Given the description of an element on the screen output the (x, y) to click on. 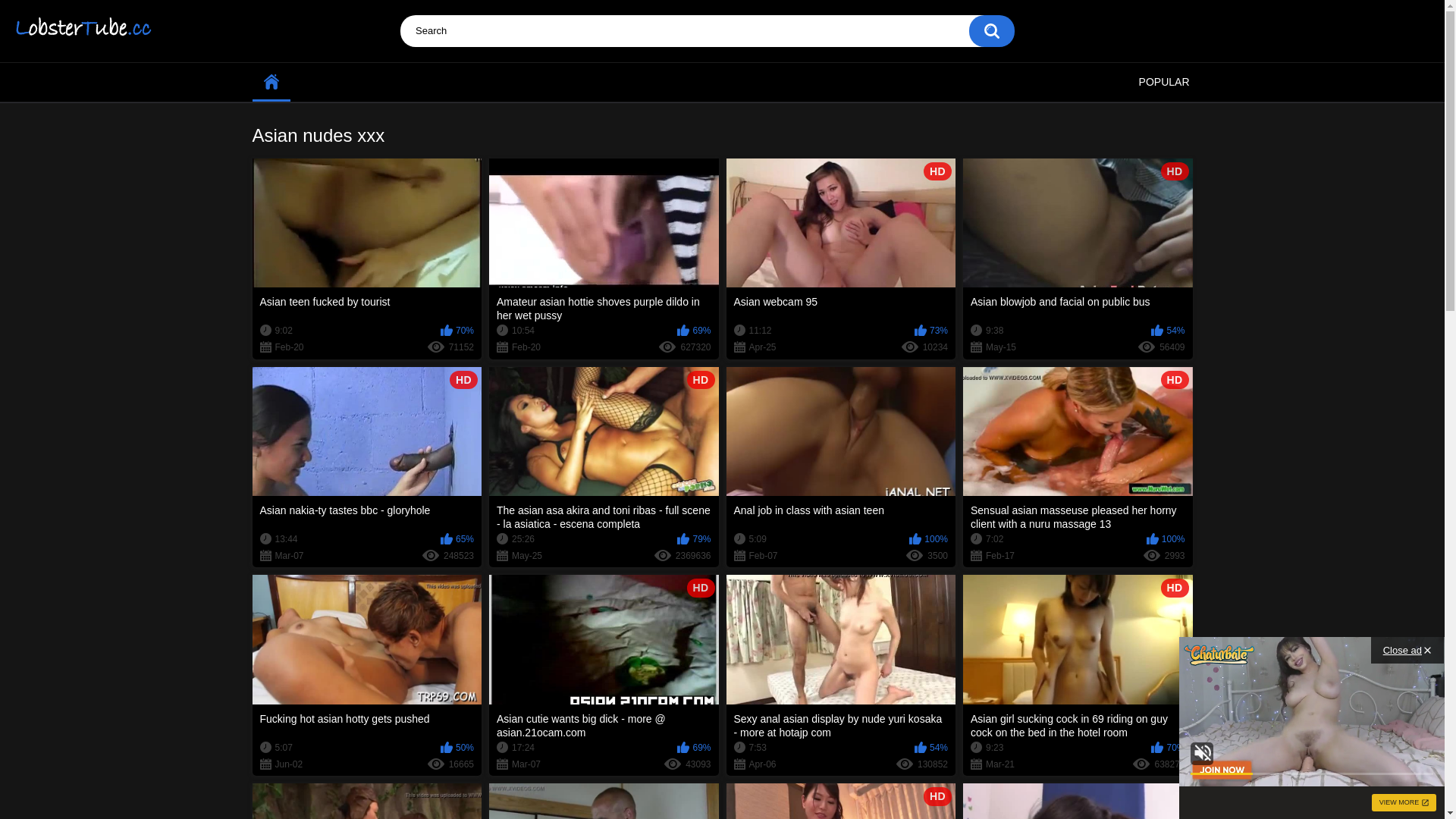
Fucking hot asian hotty gets pushed
5:07
50%
Jun-02
16665 Element type: text (366, 674)
Anal job in class with asian teen
5:09
100%
Feb-07
3500 Element type: text (841, 467)
HOME Element type: text (270, 81)
POPULAR Element type: text (1163, 81)
Asian teen fucked by tourist
9:02
70%
Feb-20
71152 Element type: text (366, 258)
HD
Asian webcam 95
11:12
73%
Apr-25
10234 Element type: text (841, 258)
